Given the description of an element on the screen output the (x, y) to click on. 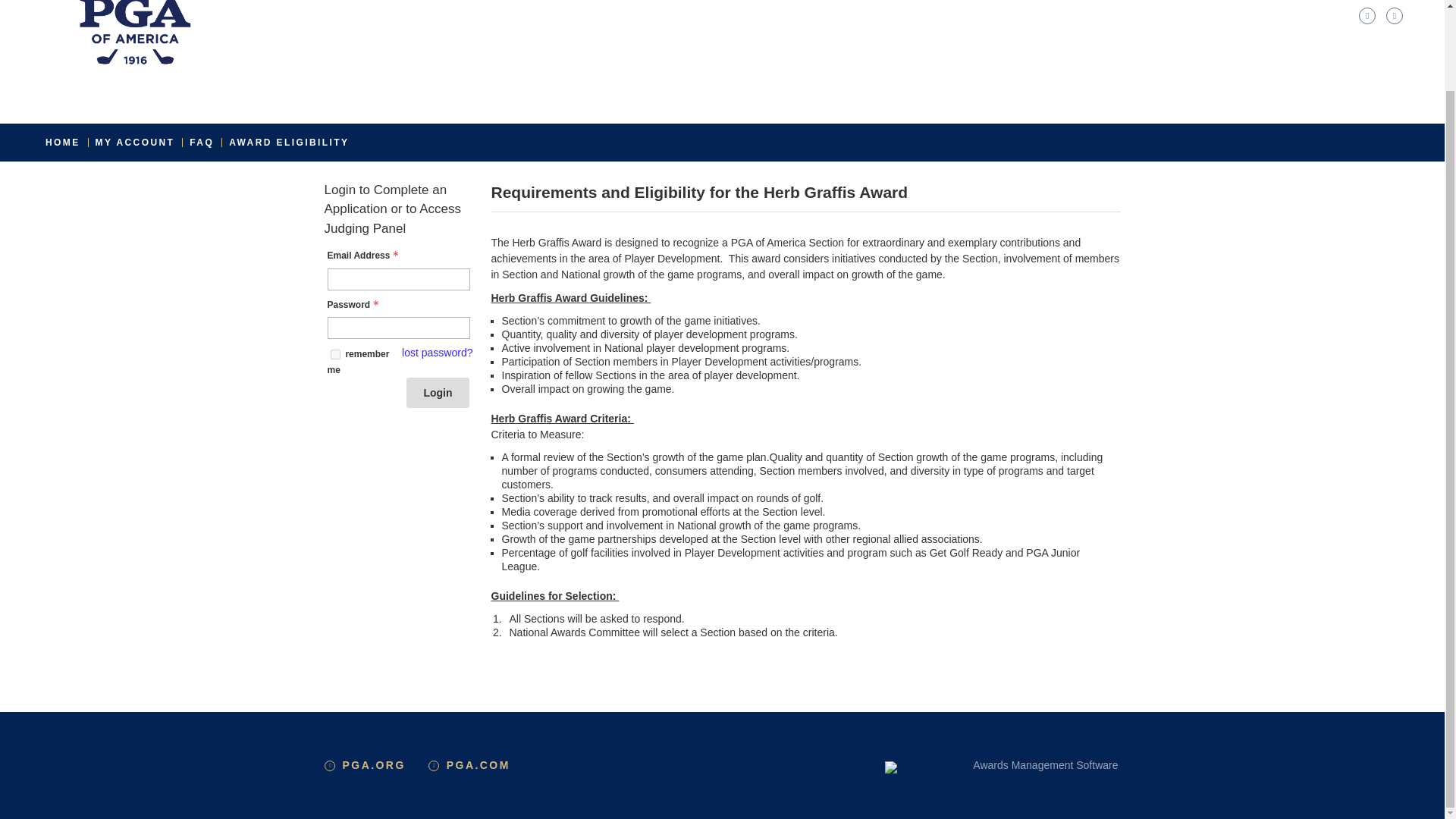
MY ACCOUNT (135, 142)
true (335, 354)
AWARD ELIGIBILITY (288, 142)
PGA.COM (478, 765)
PGA.ORG (374, 765)
Login (437, 392)
Awards Management Software (926, 767)
Awards Management Software (1045, 765)
FAQ (201, 142)
HOME (62, 142)
